Given the description of an element on the screen output the (x, y) to click on. 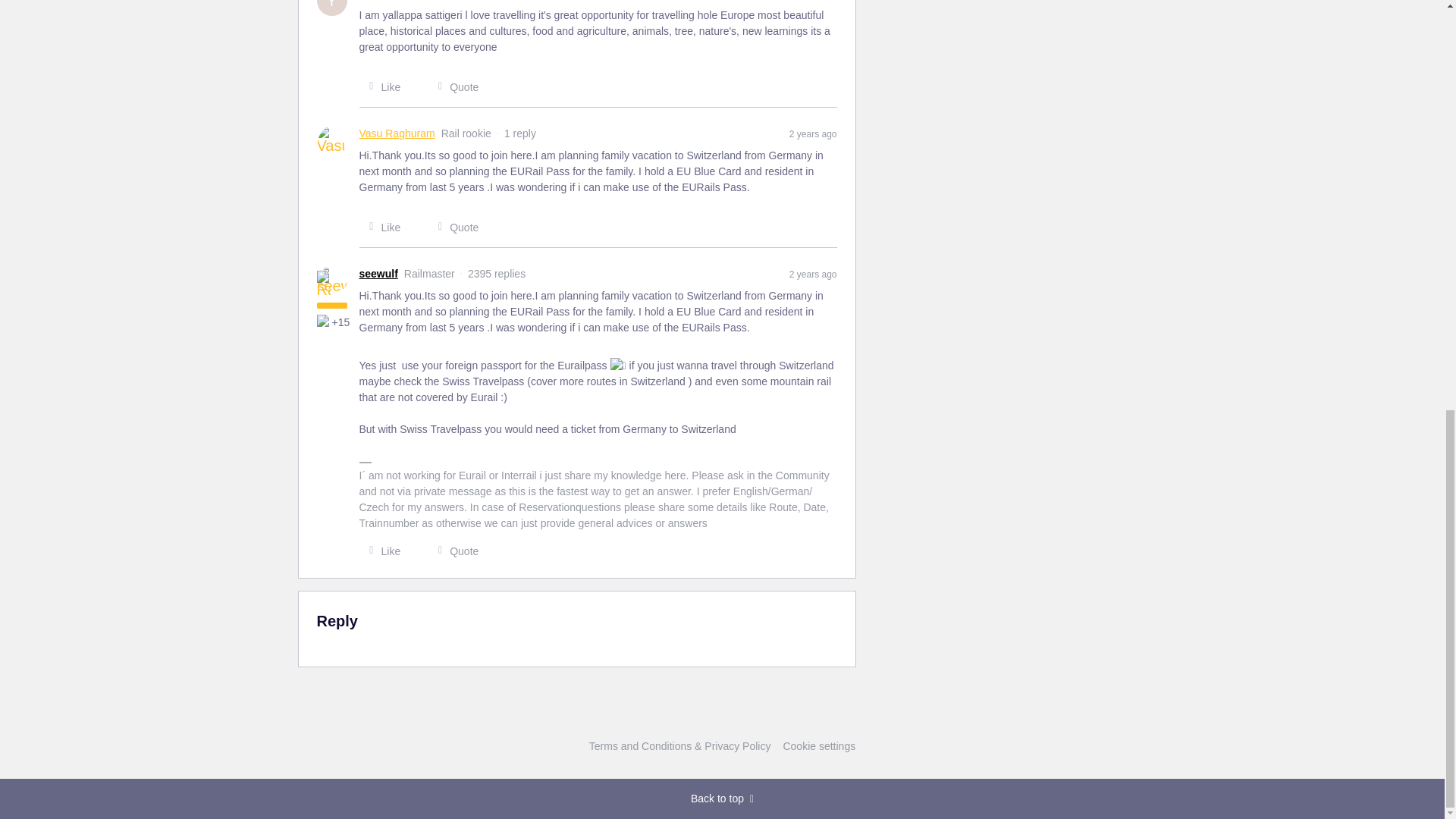
Quote (453, 86)
Like (380, 550)
Like (380, 86)
seewulf (378, 273)
seewulf (378, 273)
Quote (453, 550)
Vasu Raghuram (397, 133)
2 years ago (813, 273)
Vasu Raghuram (397, 133)
Y (332, 7)
